Given the description of an element on the screen output the (x, y) to click on. 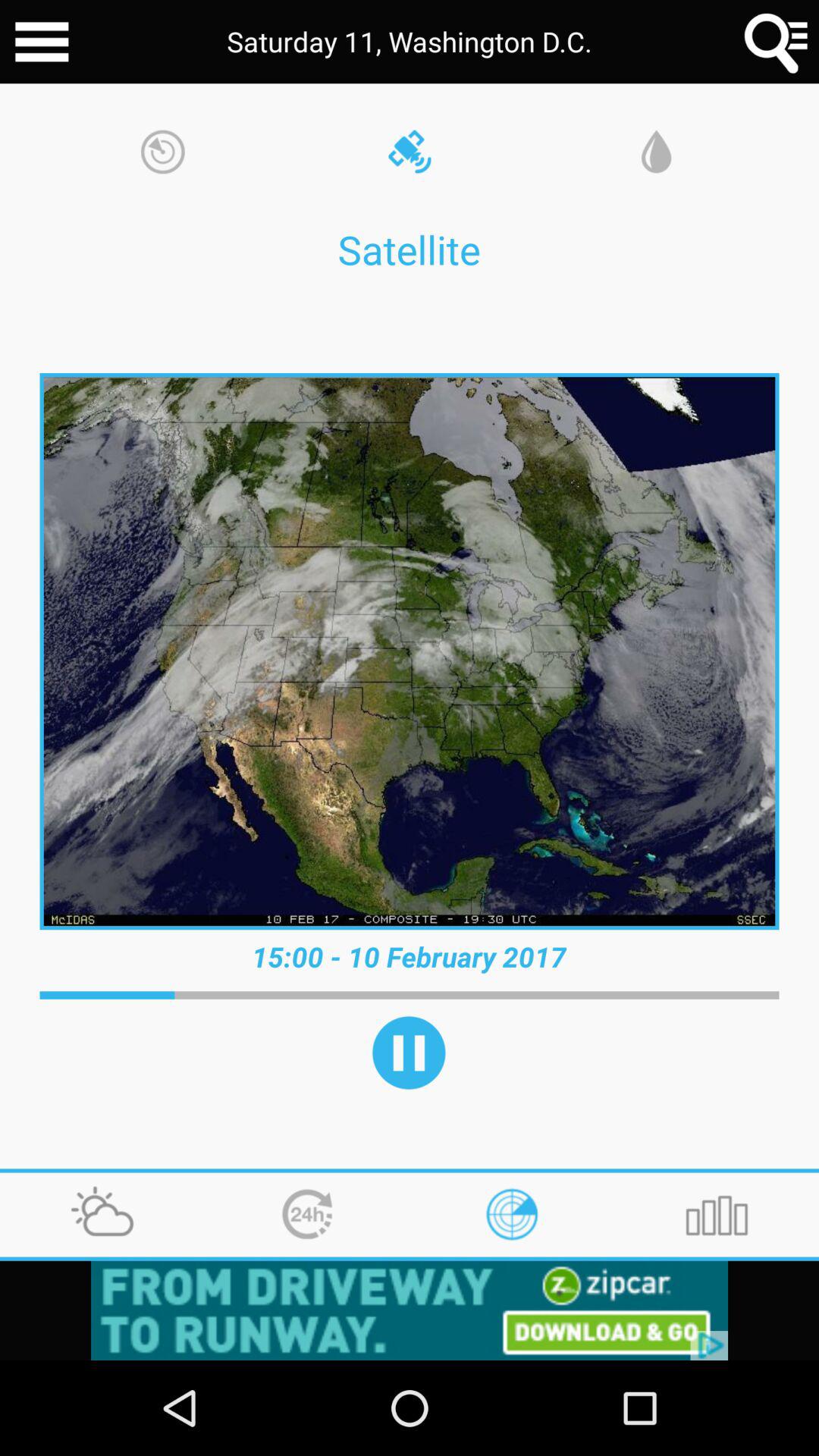
go to all (41, 41)
